Given the description of an element on the screen output the (x, y) to click on. 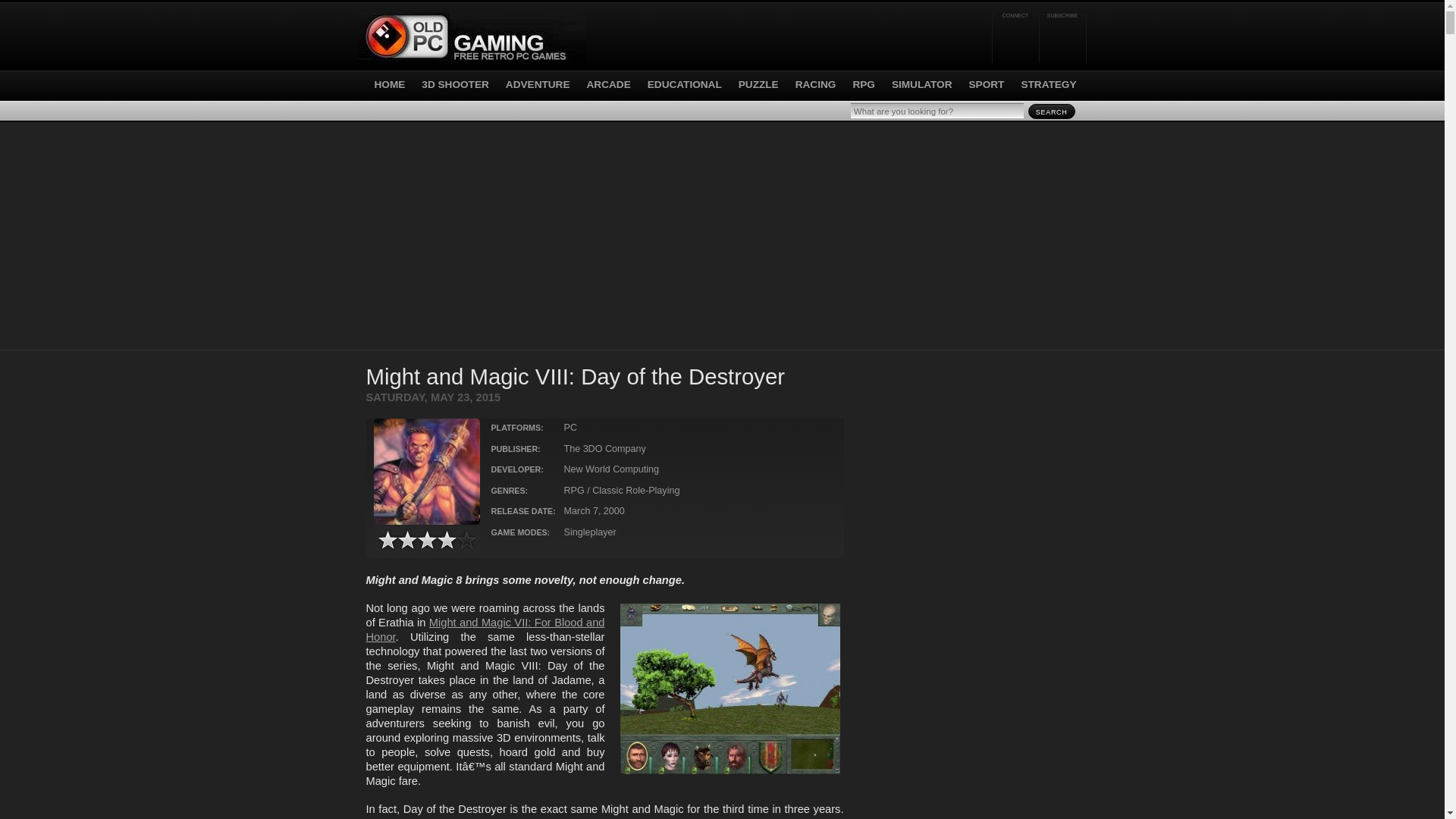
ARCADE (608, 84)
SPORT (986, 84)
STRATEGY (1047, 84)
Old PC Gaming (471, 37)
RPG (863, 84)
PUZZLE (758, 84)
ADVENTURE (537, 84)
4 (425, 539)
3D SHOOTER (454, 84)
EDUCATIONAL (684, 84)
